Given the description of an element on the screen output the (x, y) to click on. 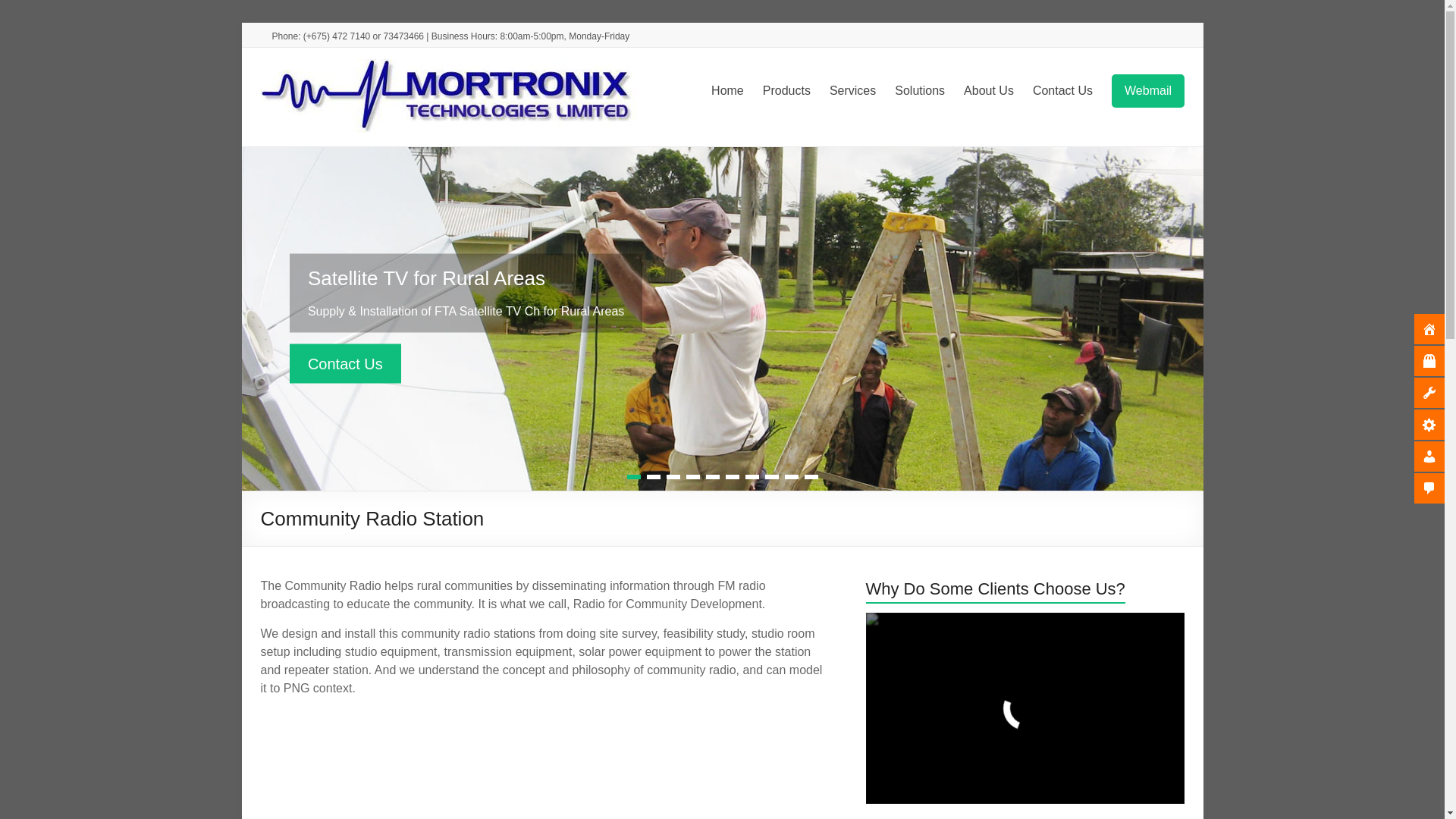
Webmail (1148, 90)
Contact Us (345, 363)
Solutions (919, 90)
Home (727, 90)
Mortronix Technologies Ltd (331, 108)
About Us (988, 90)
Mortronix Technologies Ltd (331, 108)
Satellite TV for Rural Areas (425, 278)
Products (785, 90)
Contact Us (1062, 90)
Satellite TV for Rural Areas (345, 363)
Satellite TV for Rural Areas (425, 278)
Services (851, 90)
